Given the description of an element on the screen output the (x, y) to click on. 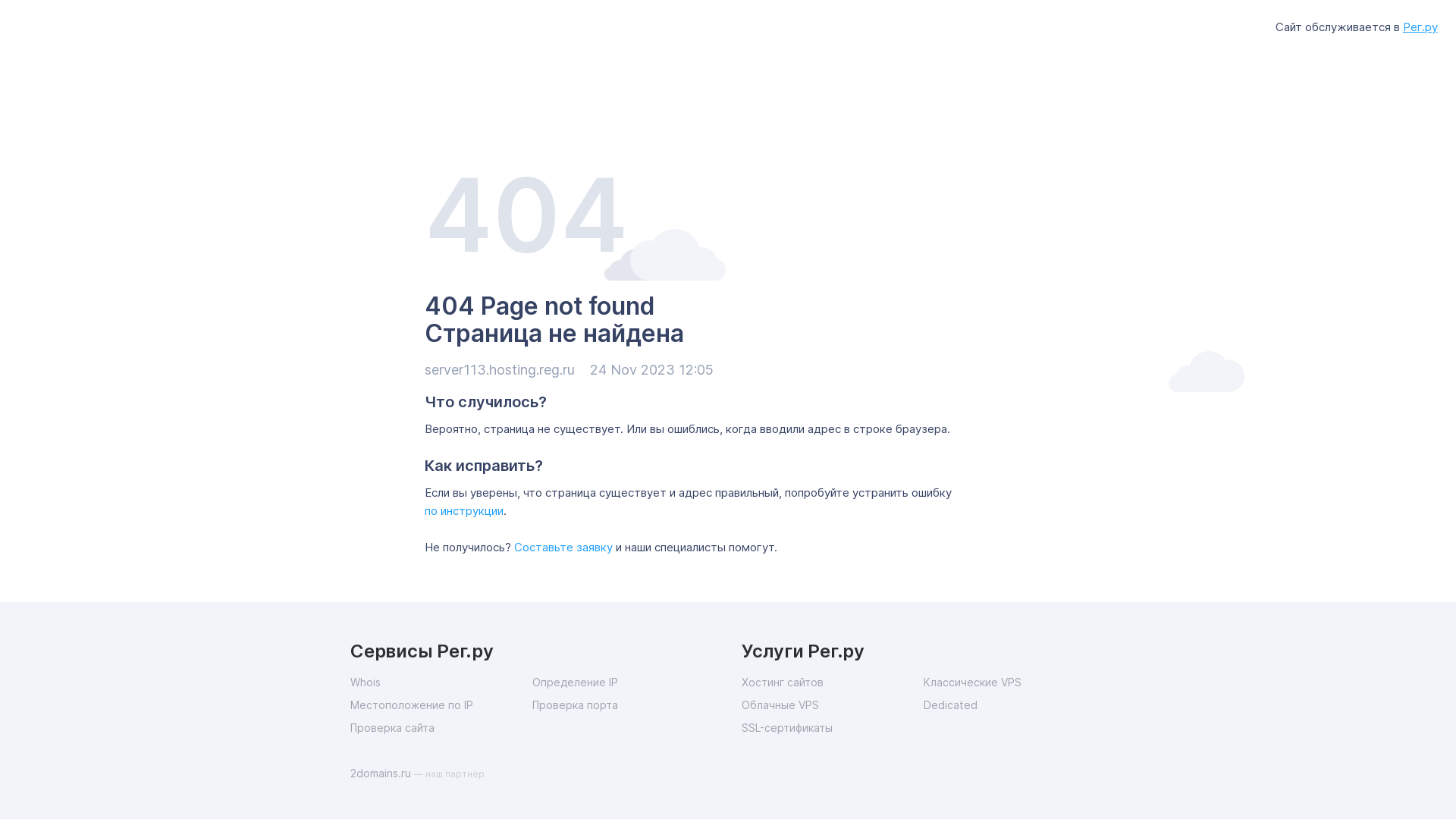
2domains.ru Element type: text (382, 772)
Whois Element type: text (441, 682)
Dedicated Element type: text (1014, 705)
